Given the description of an element on the screen output the (x, y) to click on. 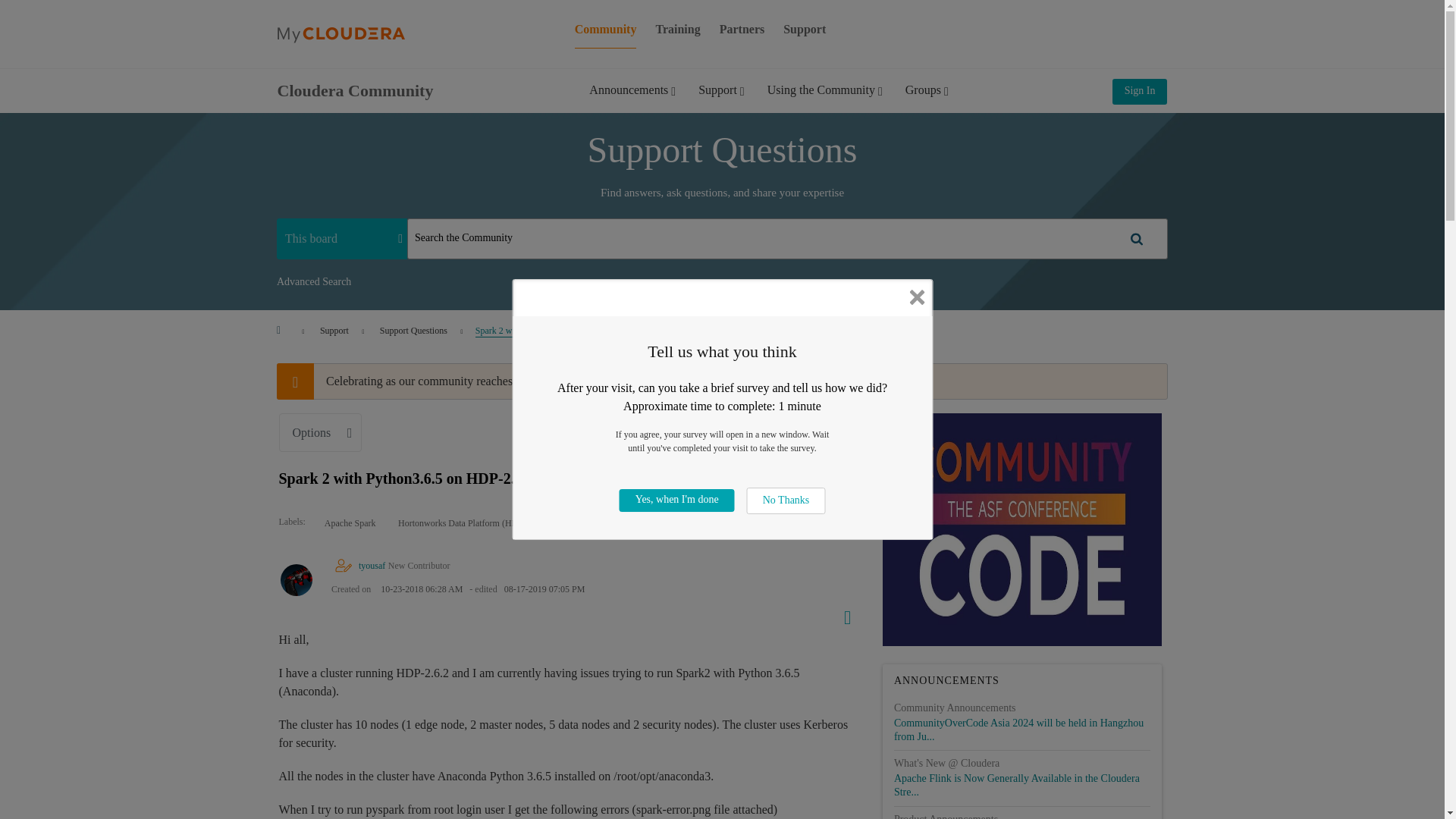
Thank you! (637, 380)
Announcements (632, 100)
Support Questions (412, 330)
Sign In (1139, 91)
Training (677, 29)
Community (606, 29)
Support (804, 29)
Support (333, 330)
Groups (927, 100)
Search Granularity (342, 237)
Search (787, 238)
Support (721, 100)
Using the Community (824, 100)
Show option menu (842, 614)
Cloudera Community (355, 90)
